Given the description of an element on the screen output the (x, y) to click on. 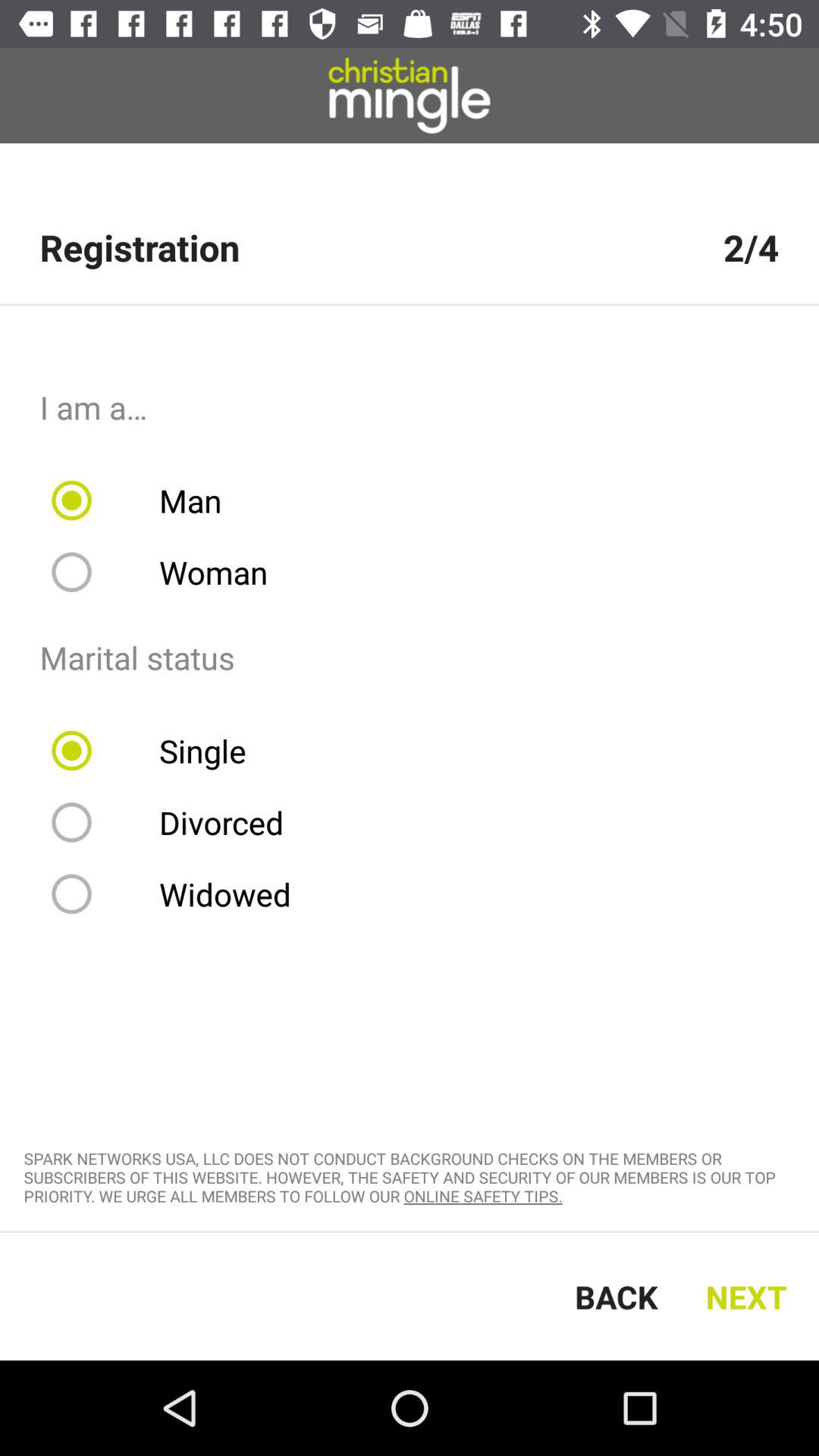
choose the woman icon (169, 572)
